Given the description of an element on the screen output the (x, y) to click on. 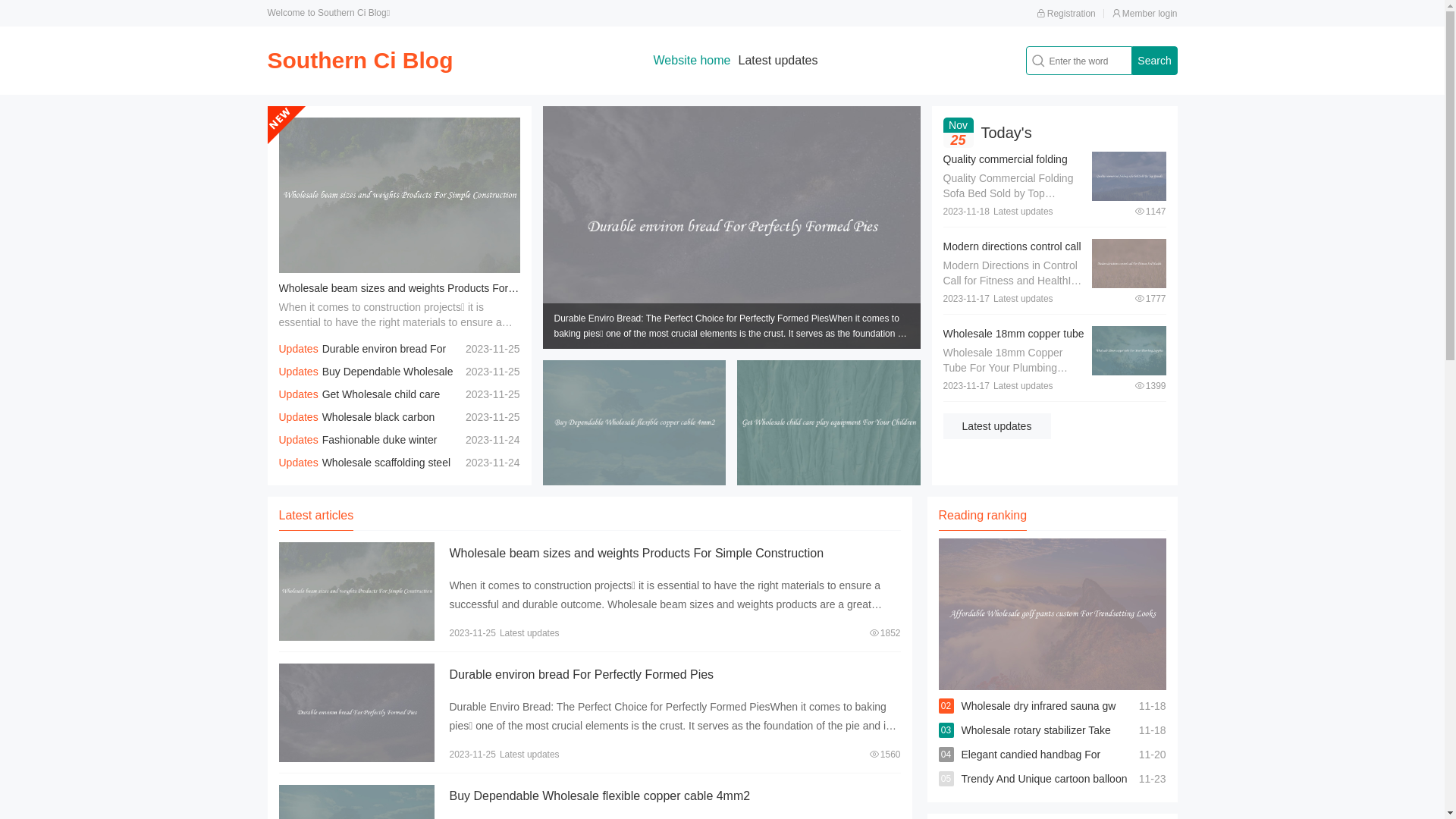
Search Element type: text (1153, 60)
Southern Ci Blog Element type: text (359, 59)
Trendy And Unique cartoon balloon gift Designs On Offers Element type: text (1044, 790)
Modern directions control call For Fitness And Health Element type: text (1012, 253)
Get Wholesale child care play equipment For Your Children Element type: text (359, 405)
Fashionable duke winter jackets For Comfort And Style Element type: text (358, 450)
Latest updates Element type: text (778, 59)
Member login Element type: text (1144, 13)
Registration Element type: text (1065, 13)
Buy Dependable Wholesale flexible copper cable 4mm2 Element type: text (366, 382)
Wholesale rotary stabilizer Take Steady Photos And Videos Element type: text (1035, 742)
Buy Dependable Wholesale flexible copper cable 4mm2 Element type: text (598, 795)
Website home Element type: text (692, 59)
Latest updates Element type: text (997, 426)
Quality commercial folding sofa bed Sold By Top Brands Element type: text (1011, 166)
Wholesale 18mm copper tube For Your Plumbing Supplies Element type: text (1013, 340)
Durable environ bread For Perfectly Formed Pies Element type: text (362, 359)
Elegant candied handbag For Stylish And Trendy Looks Element type: text (1031, 766)
Durable environ bread For Perfectly Formed Pies Element type: text (580, 674)
